Given the description of an element on the screen output the (x, y) to click on. 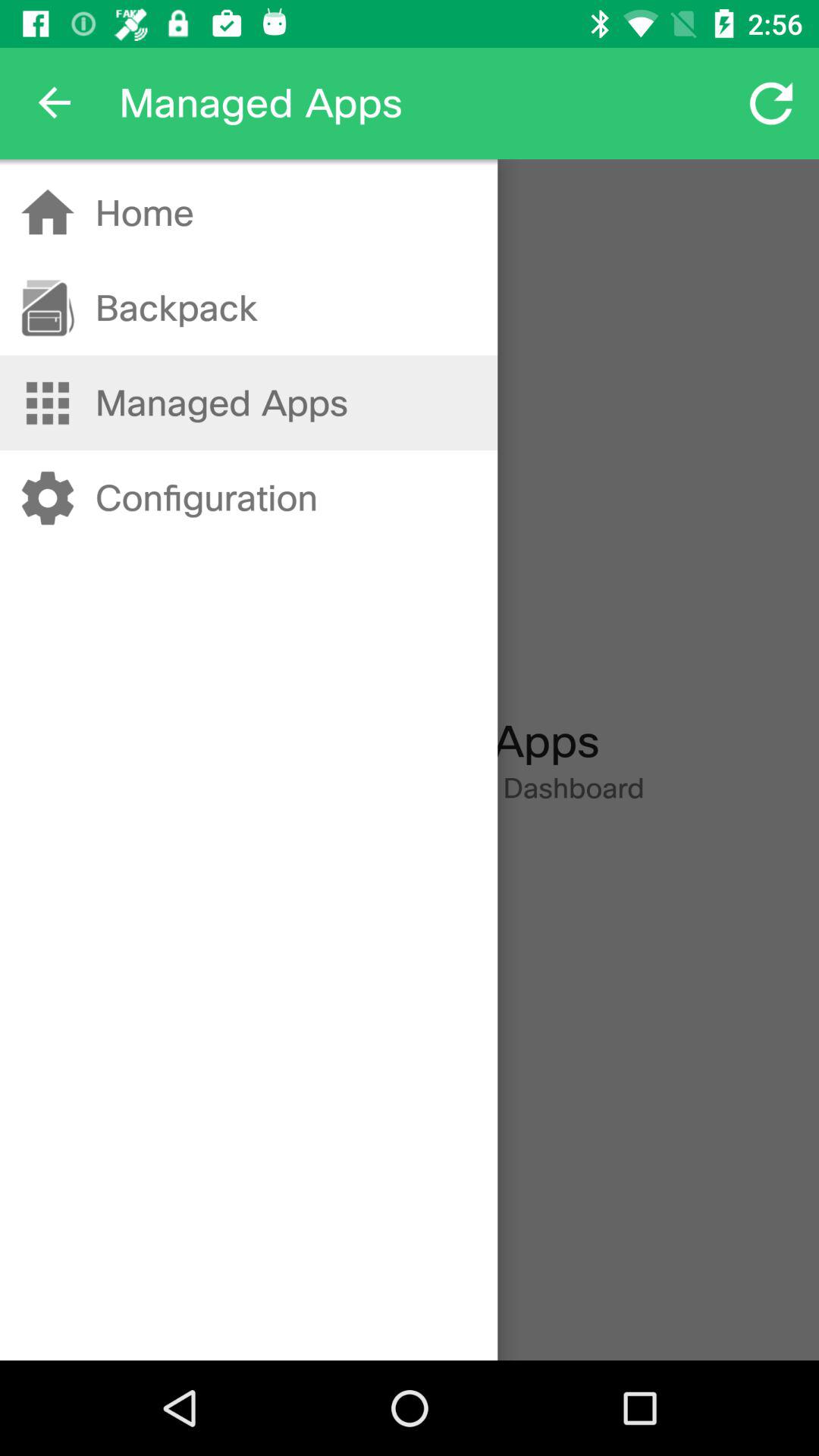
click item above managed apps (176, 307)
